Given the description of an element on the screen output the (x, y) to click on. 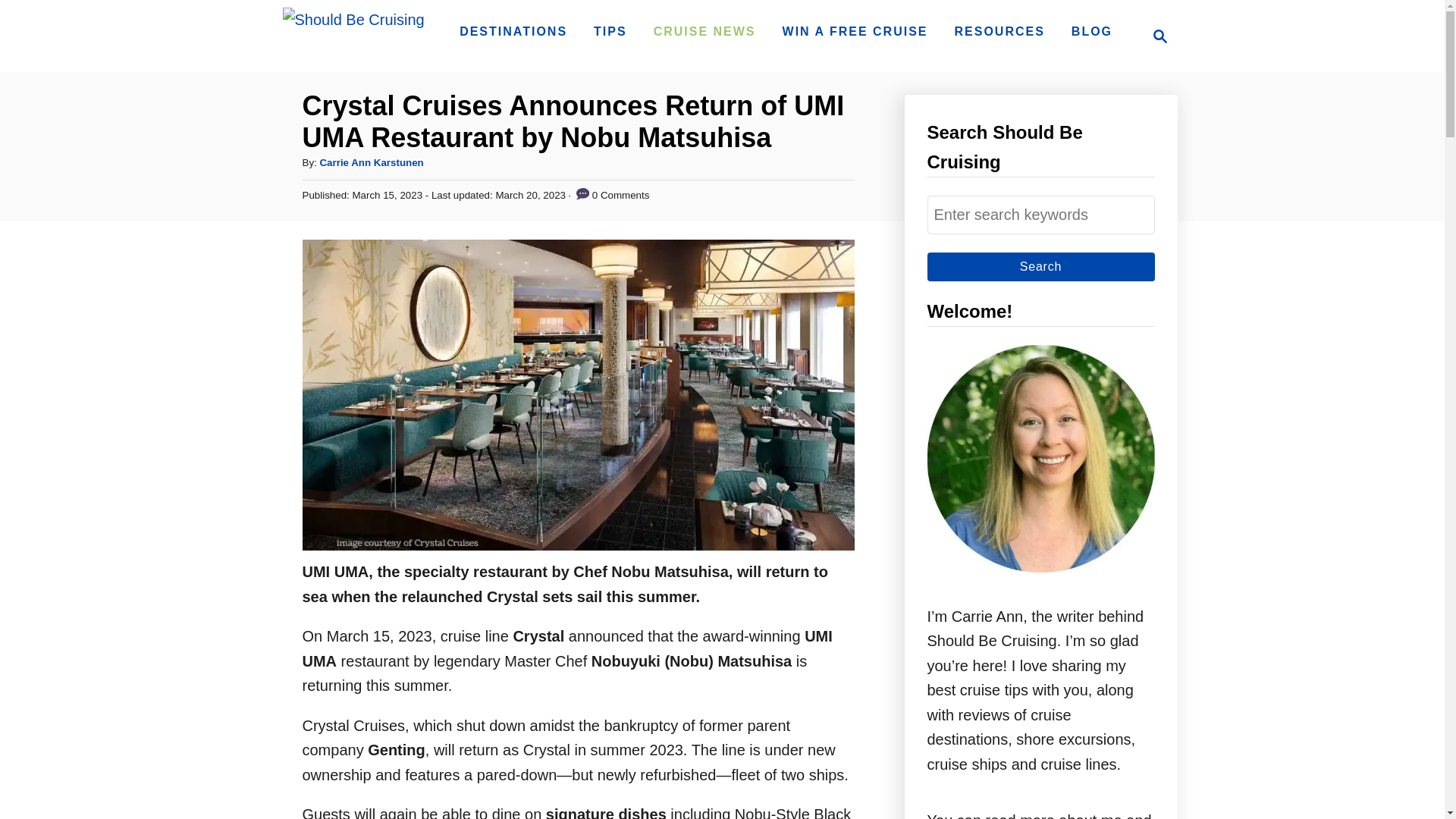
Should Be Cruising (352, 35)
Search for: (1155, 36)
CRUISE NEWS (1040, 214)
Magnifying Glass (704, 31)
Search (1160, 36)
DESTINATIONS (1040, 265)
TIPS (513, 31)
Search (610, 31)
